Given the description of an element on the screen output the (x, y) to click on. 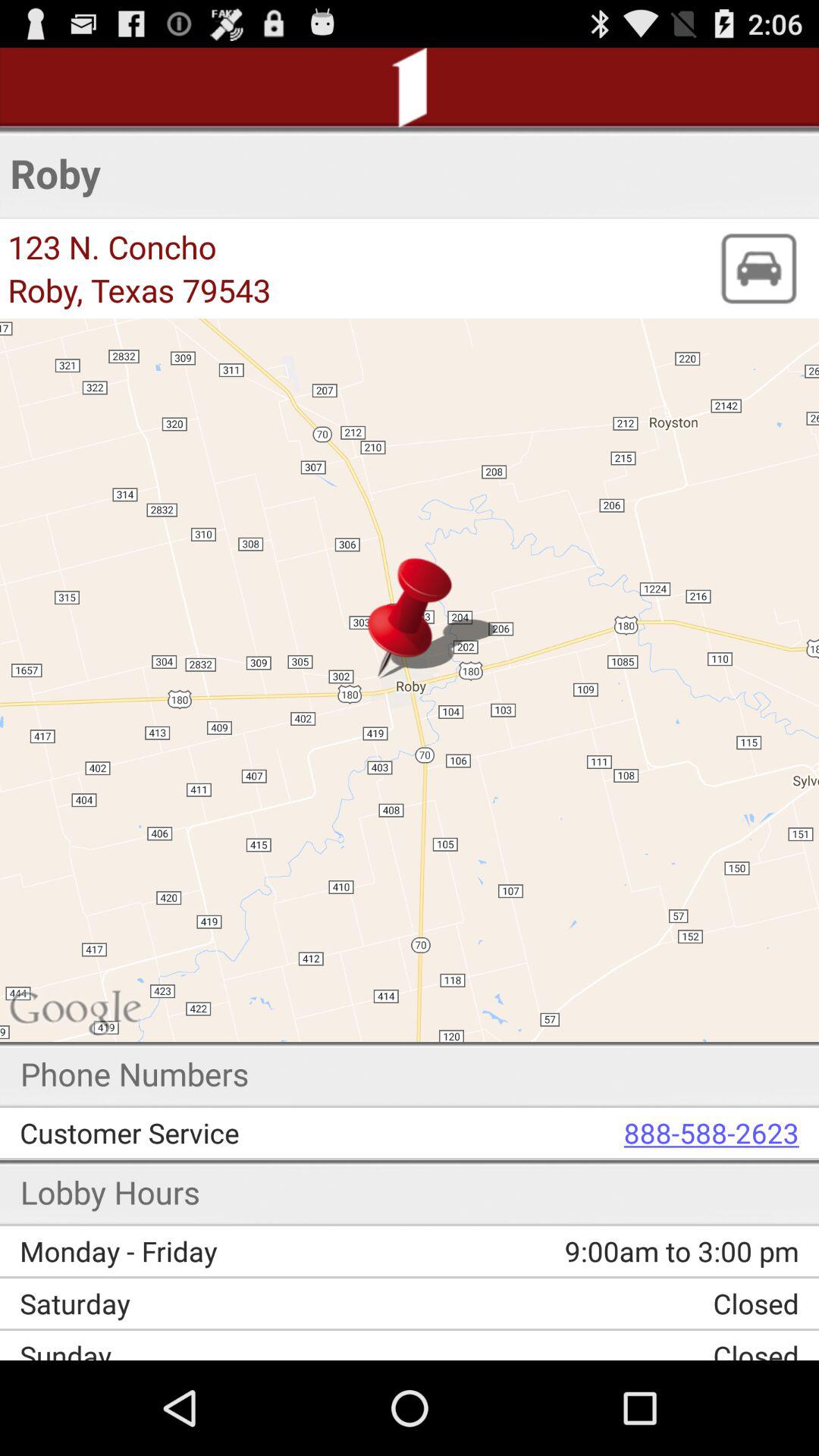
jump to the saturday app (220, 1303)
